Given the description of an element on the screen output the (x, y) to click on. 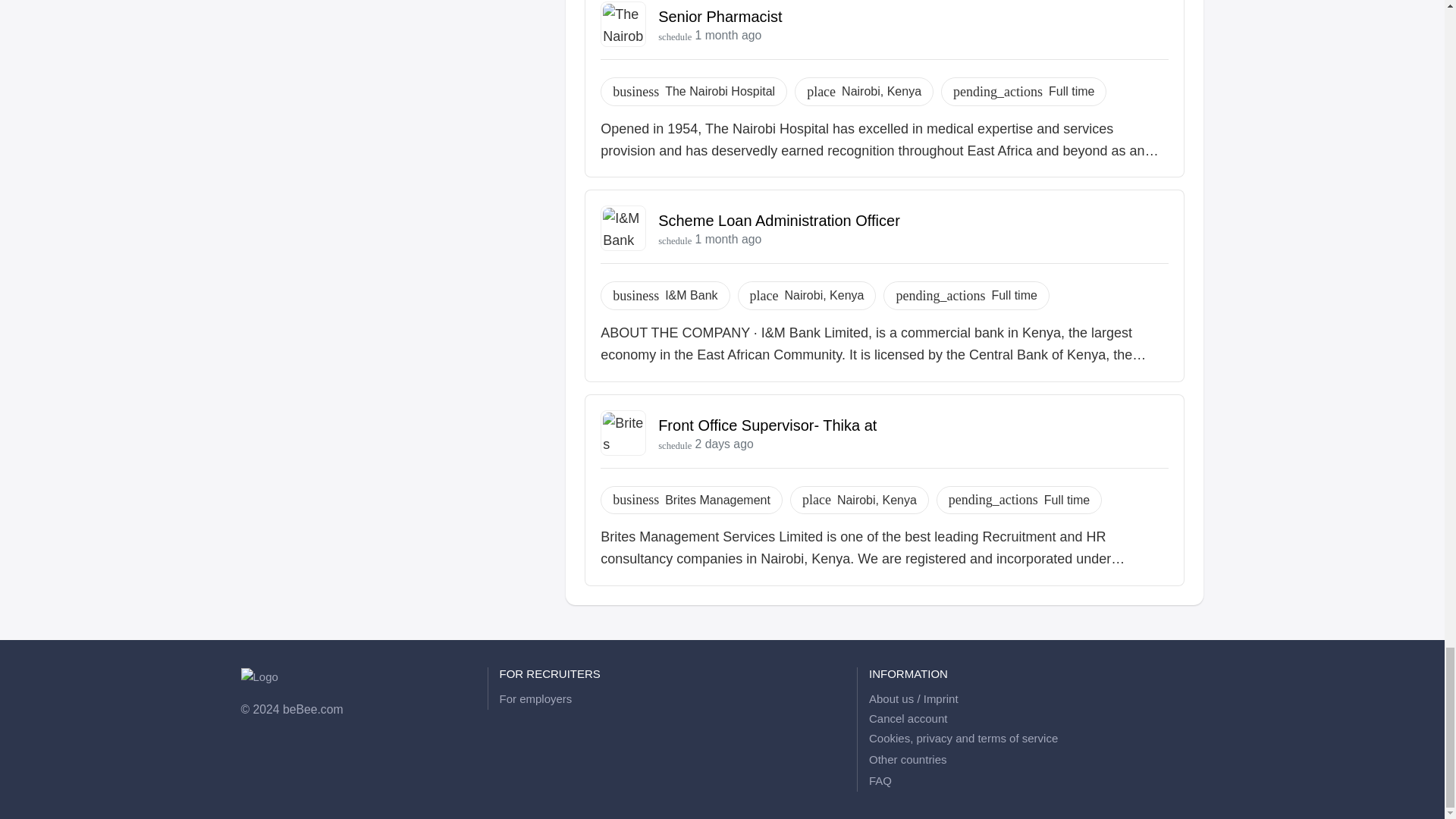
Nairobi, Kenya (881, 91)
Scheme Loan Administration Officer (778, 220)
Senior Pharmacist (719, 16)
Front Office Supervisor- Thika at (767, 425)
The Nairobi Hospital (719, 91)
Senior Pharmacist (719, 16)
